Given the description of an element on the screen output the (x, y) to click on. 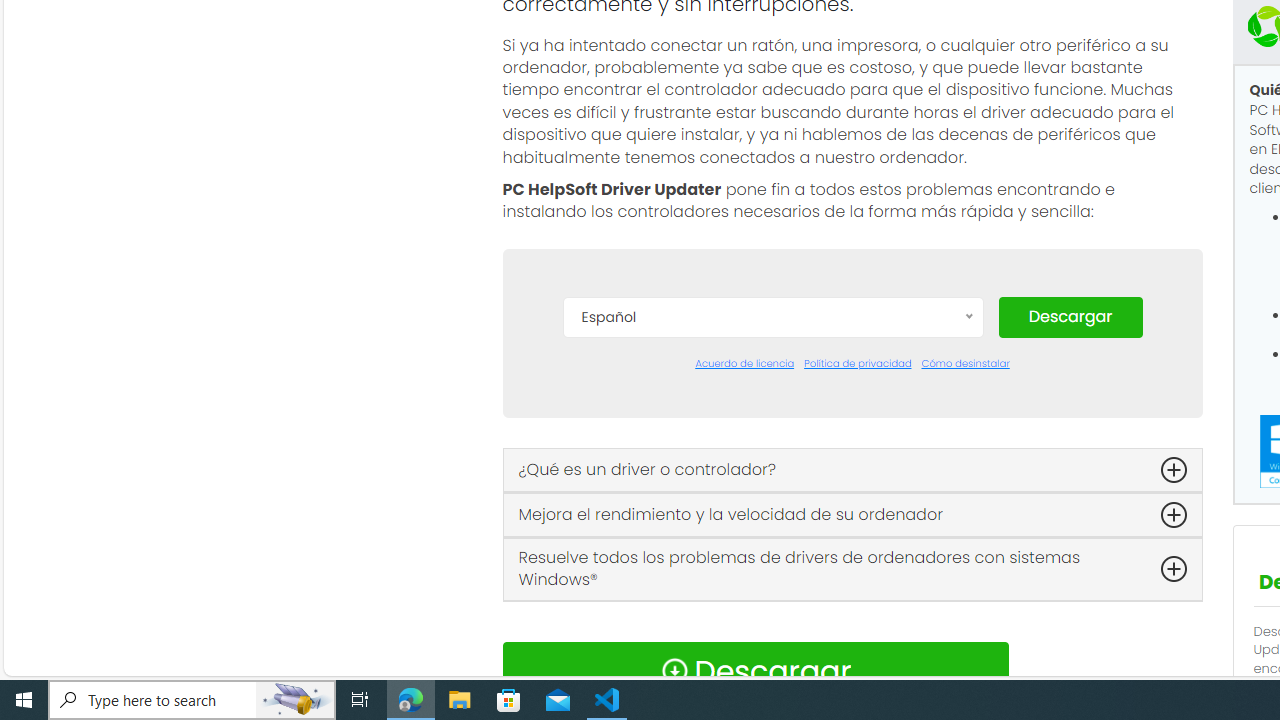
Descargar (1070, 316)
English (772, 501)
Download Icon (674, 670)
Acuerdo de licencia (744, 363)
Deutsch (772, 472)
Dansk (772, 411)
Download Icon Descargar (754, 670)
Norsk (772, 652)
Italiano (772, 591)
Nederlands (772, 621)
